Given the description of an element on the screen output the (x, y) to click on. 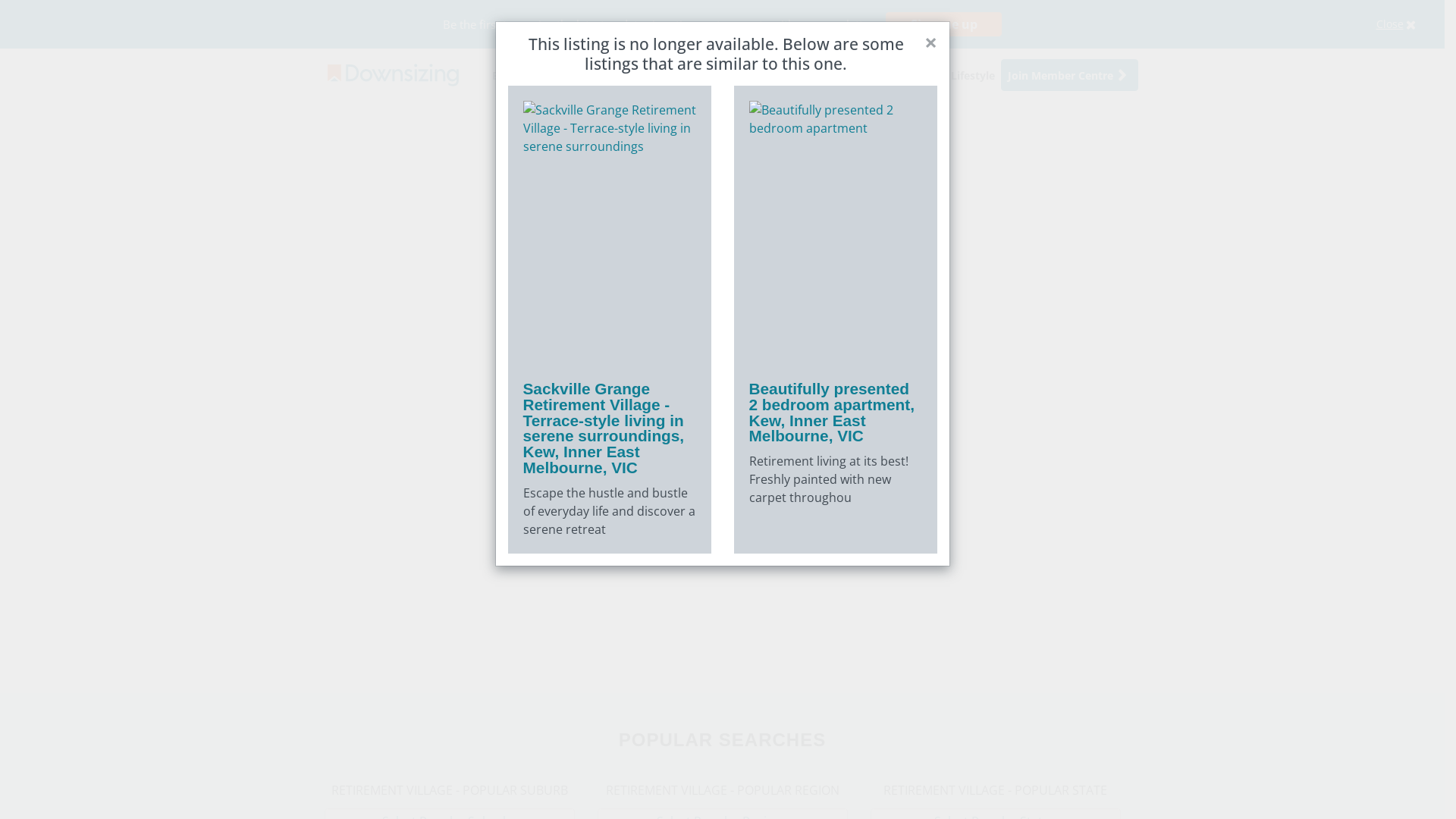
Sign me up Element type: text (943, 24)
Events Element type: text (879, 74)
Regions Element type: text (829, 74)
Shared Element type: text (643, 74)
Aged Care Element type: text (586, 74)
Buy Element type: text (501, 74)
Rent Element type: text (535, 74)
Close Element type: text (1413, 24)
New Homes Element type: text (765, 74)
News Element type: text (923, 74)
Premiere Element type: text (698, 74)
Lifestyle Element type: text (972, 74)
Join Member Centre Element type: text (1069, 75)
